Given the description of an element on the screen output the (x, y) to click on. 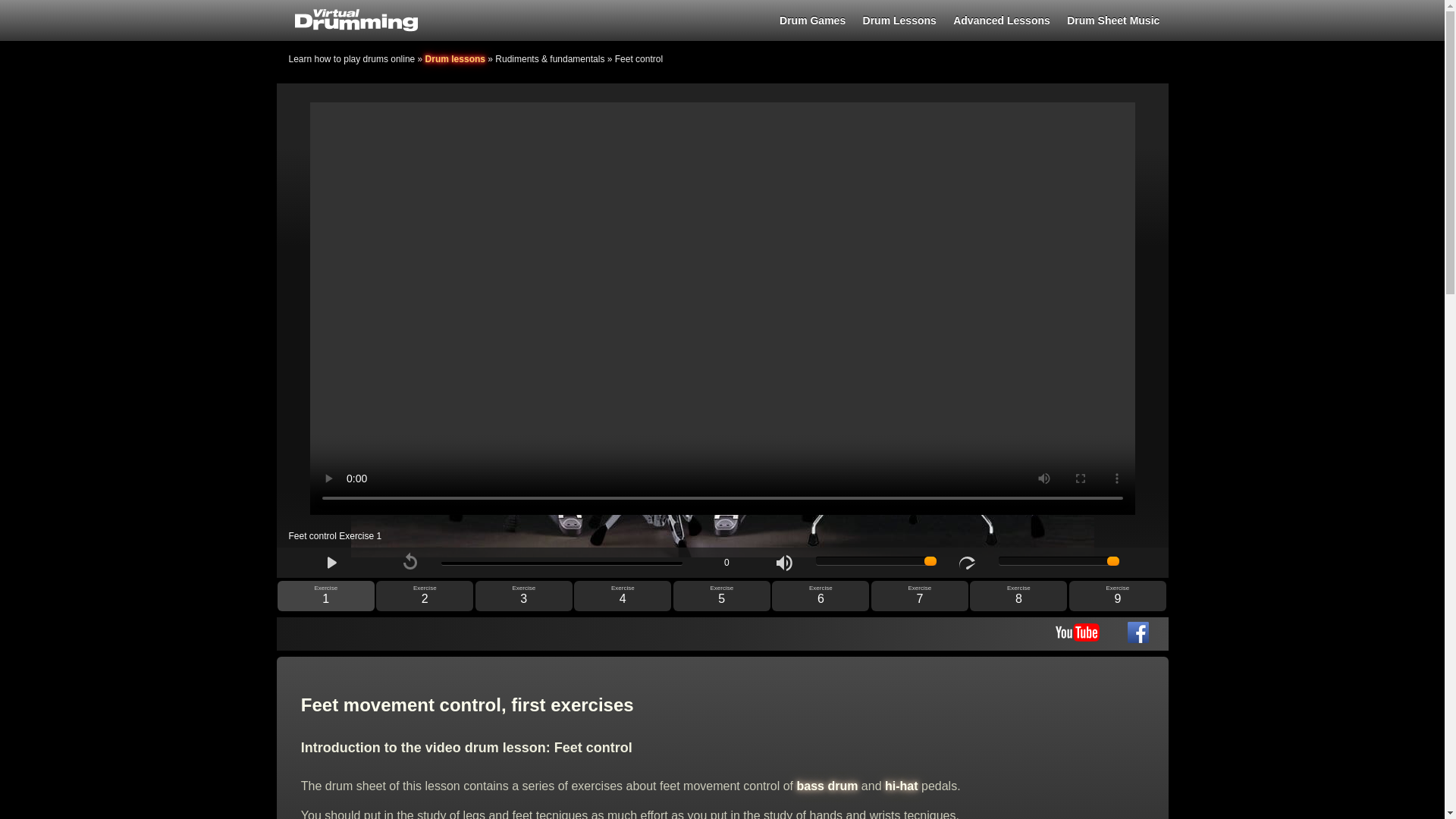
1 (875, 560)
1 (1058, 560)
Online advanced drum video lessons (1001, 20)
Drum lessons (454, 59)
Online video drum lessons for beginners (454, 59)
Drum Games (812, 20)
Advanced Lessons (1001, 20)
Virtual Drumming Facebook (1137, 638)
Online video drum lessons for beginners (898, 20)
Virtual Drumming YouTube Video (1077, 636)
Drum Lessons (898, 20)
Drum Sheet Music (1113, 20)
Download drum sheet music drum charts drum tabs (1113, 20)
Online drum games for kids Virtual drums (812, 20)
